Given the description of an element on the screen output the (x, y) to click on. 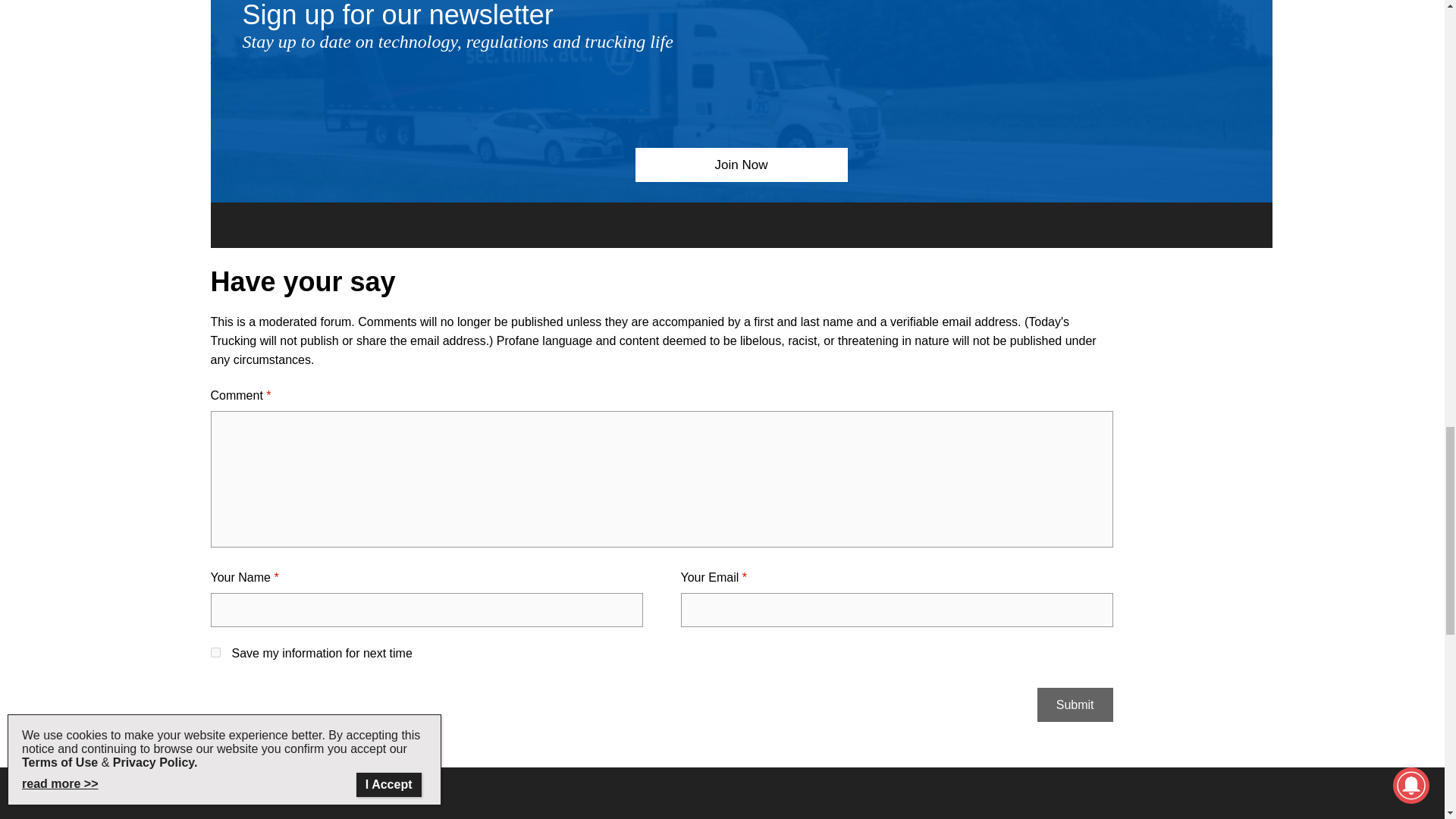
Submit (1074, 704)
3rd party ad content (722, 804)
yes (216, 652)
